Given the description of an element on the screen output the (x, y) to click on. 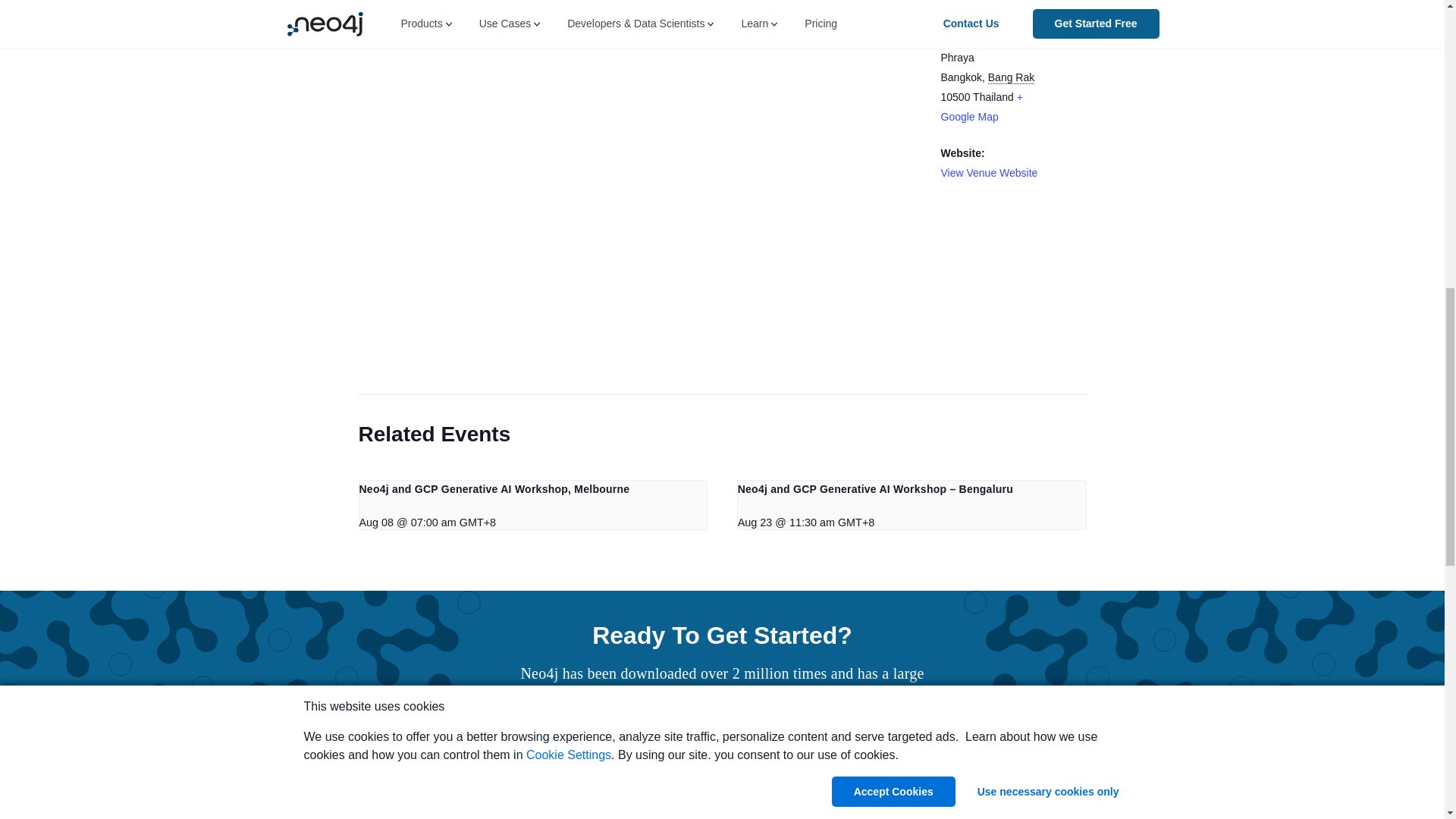
Click to view a Google Map (981, 106)
Bang Rak (1010, 77)
